Given the description of an element on the screen output the (x, y) to click on. 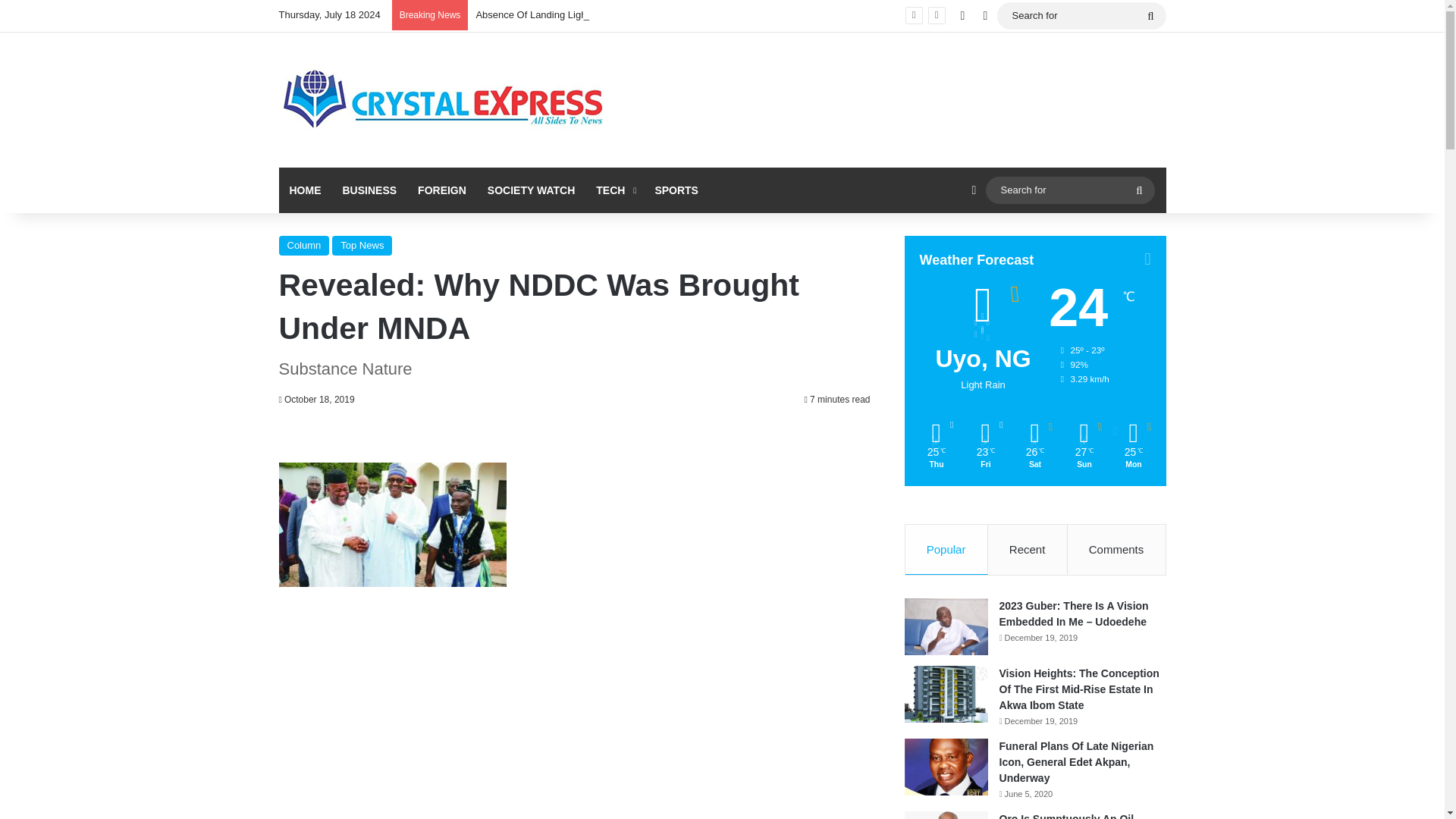
X (984, 15)
Popular (946, 549)
HOME (305, 189)
Search for (1139, 189)
Recent (1027, 549)
Search for (1150, 15)
TECH (614, 189)
Top News (361, 245)
Search for (1069, 189)
CrystalExpress (444, 100)
Search for (1080, 15)
SOCIETY WATCH (531, 189)
Sidebar (973, 189)
Advertisement (574, 715)
BUSINESS (369, 189)
